Given the description of an element on the screen output the (x, y) to click on. 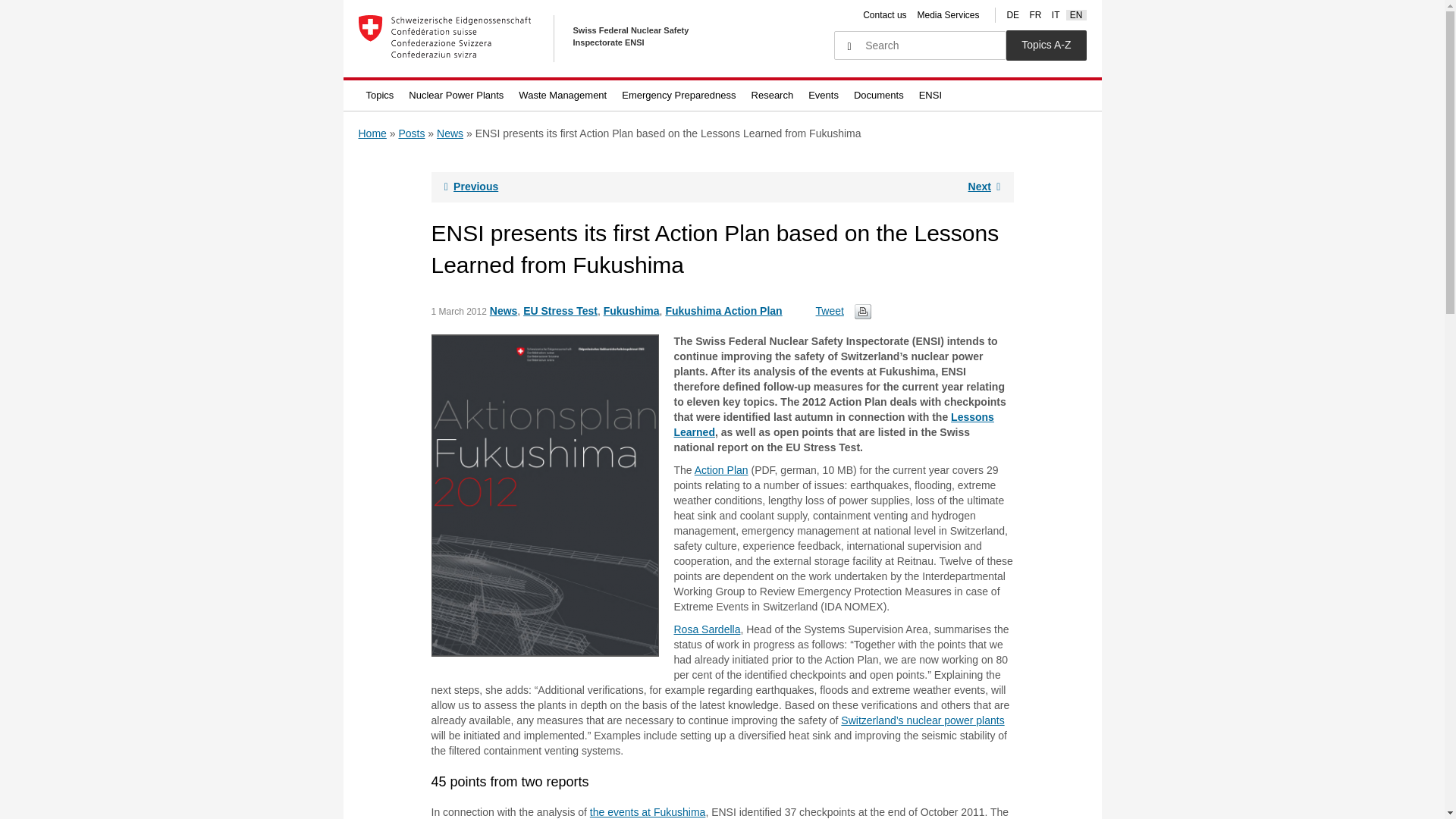
Search (849, 46)
Swiss Federal Nuclear Safety Inspectorate ENSI (540, 38)
Topics A-Z (1046, 45)
DE (1012, 14)
FR (1035, 14)
EN (1076, 14)
